Given the description of an element on the screen output the (x, y) to click on. 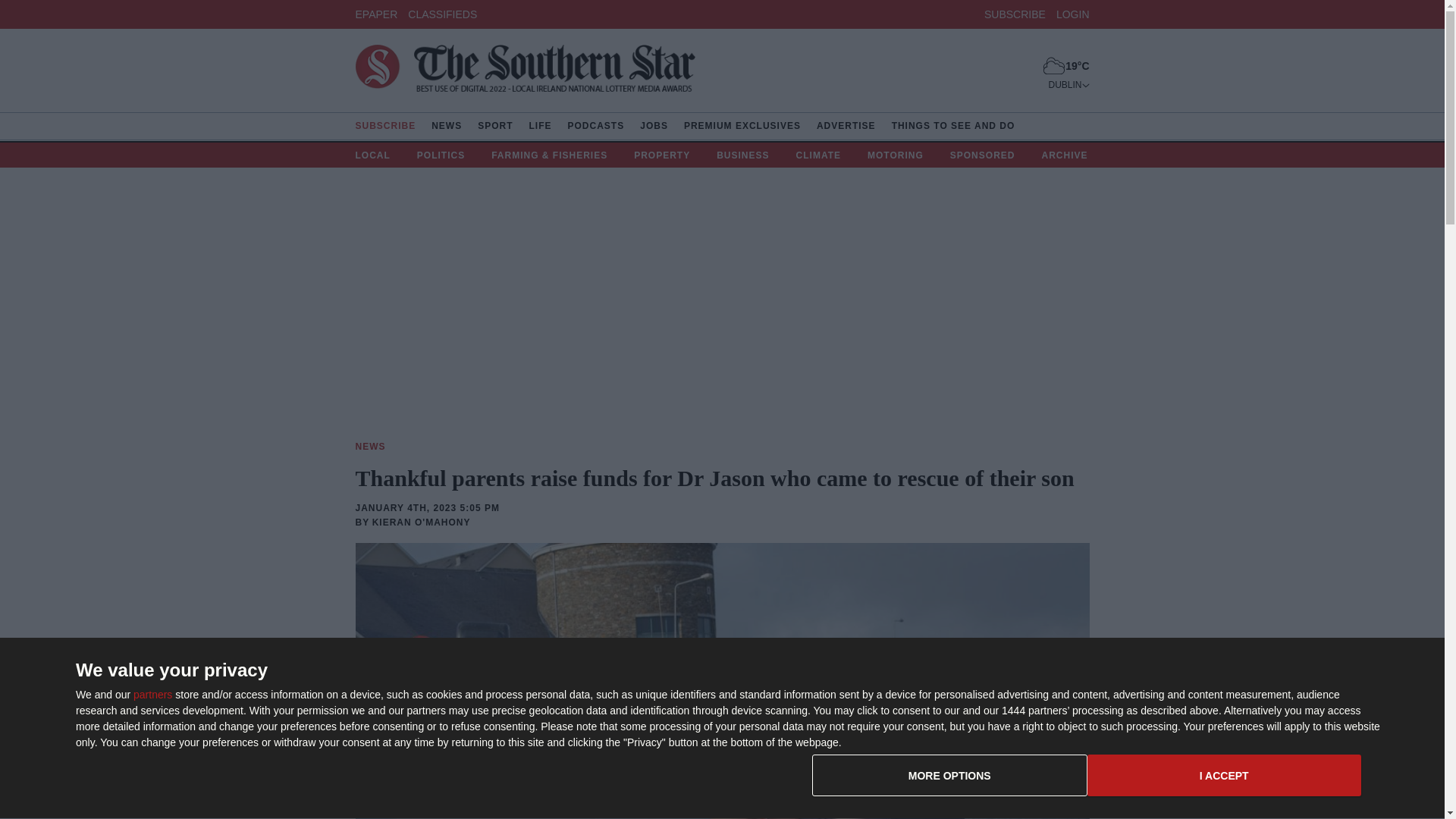
Southern Star Ltd. logo (524, 70)
I ACCEPT (1224, 775)
DUBLIN (1068, 84)
SUBSCRIBE (1086, 781)
partners (1014, 13)
CLASSIFIEDS (152, 694)
EPAPER (442, 13)
MORE OPTIONS (376, 13)
LOGIN (949, 775)
